Given the description of an element on the screen output the (x, y) to click on. 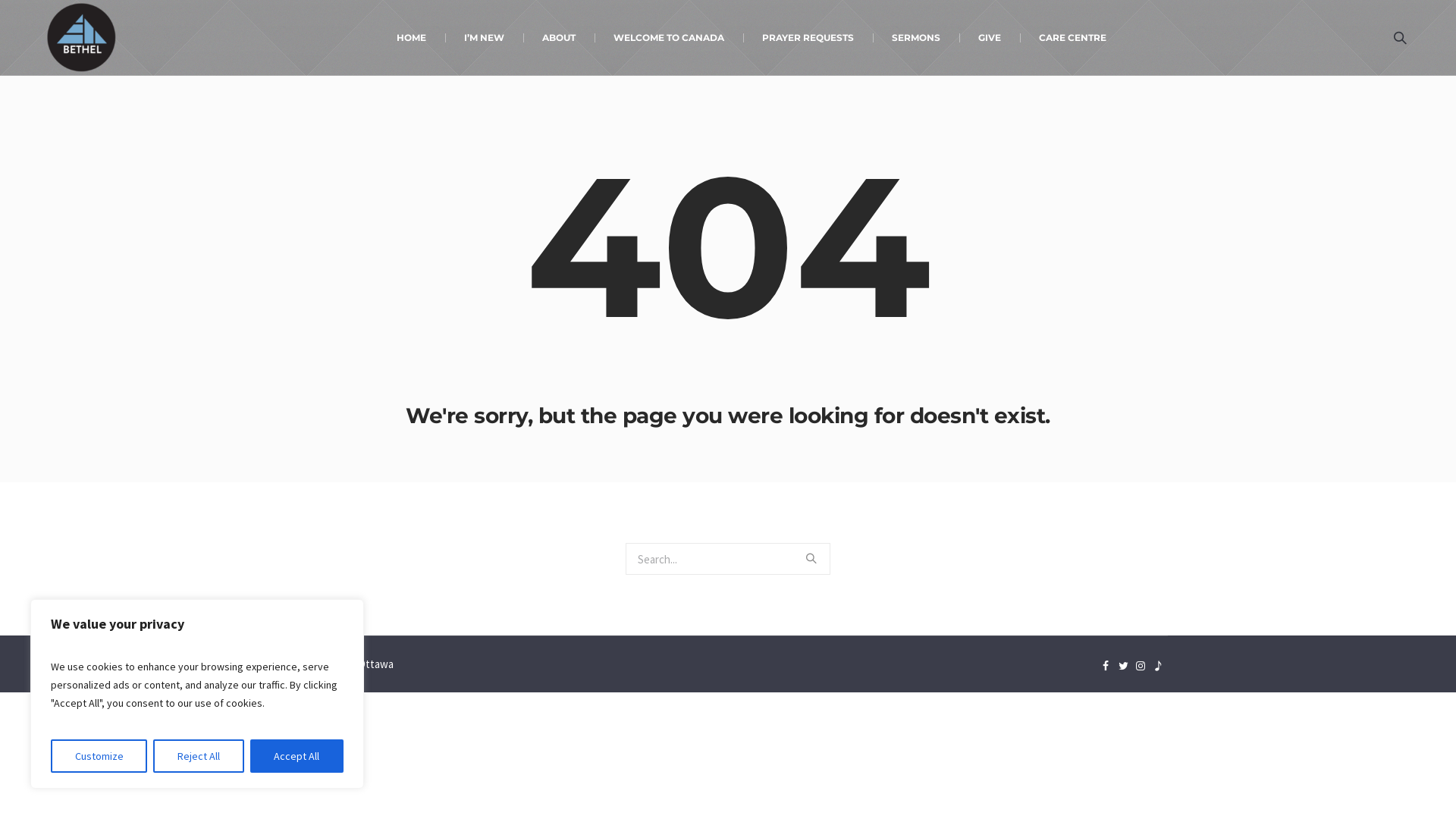
PRAYER REQUESTS Element type: text (807, 37)
SERMONS Element type: text (915, 37)
Reject All Element type: text (198, 755)
WELCOME TO CANADA Element type: text (668, 37)
CARE CENTRE Element type: text (1071, 37)
HOME Element type: text (411, 37)
GIVE Element type: text (988, 37)
Twitter Element type: hover (1122, 665)
Accept All Element type: text (296, 755)
Customize Element type: text (98, 755)
ABOUT Element type: text (558, 37)
Facebook Element type: hover (1105, 665)
